Given the description of an element on the screen output the (x, y) to click on. 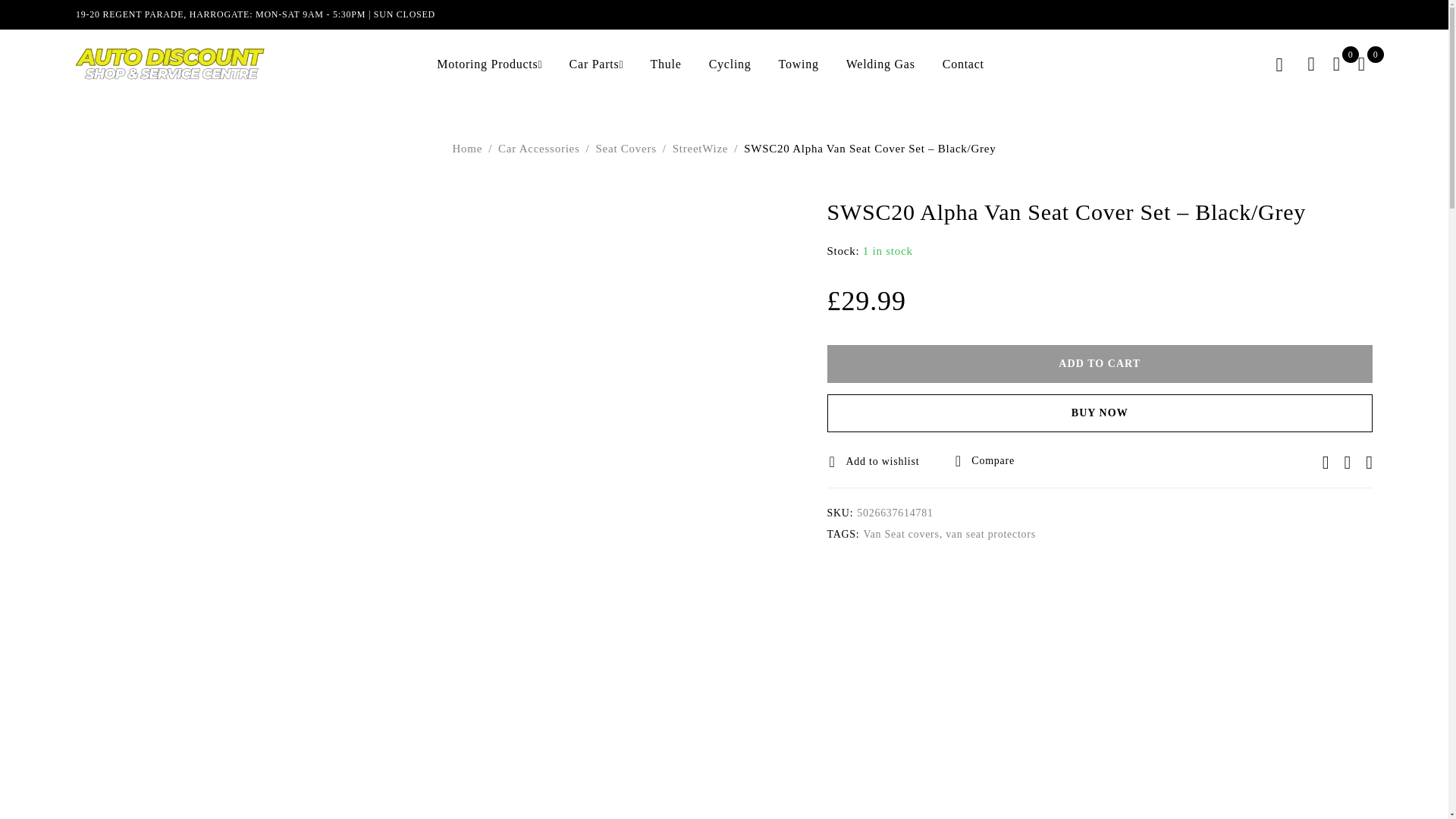
Cycling (730, 63)
Home (467, 148)
Thule (665, 63)
Contact (963, 63)
Auto Discount (169, 63)
Car Parts (594, 63)
Motoring Products (486, 63)
Towing (798, 63)
Welding Gas (880, 63)
Car Accessories (538, 148)
